Given the description of an element on the screen output the (x, y) to click on. 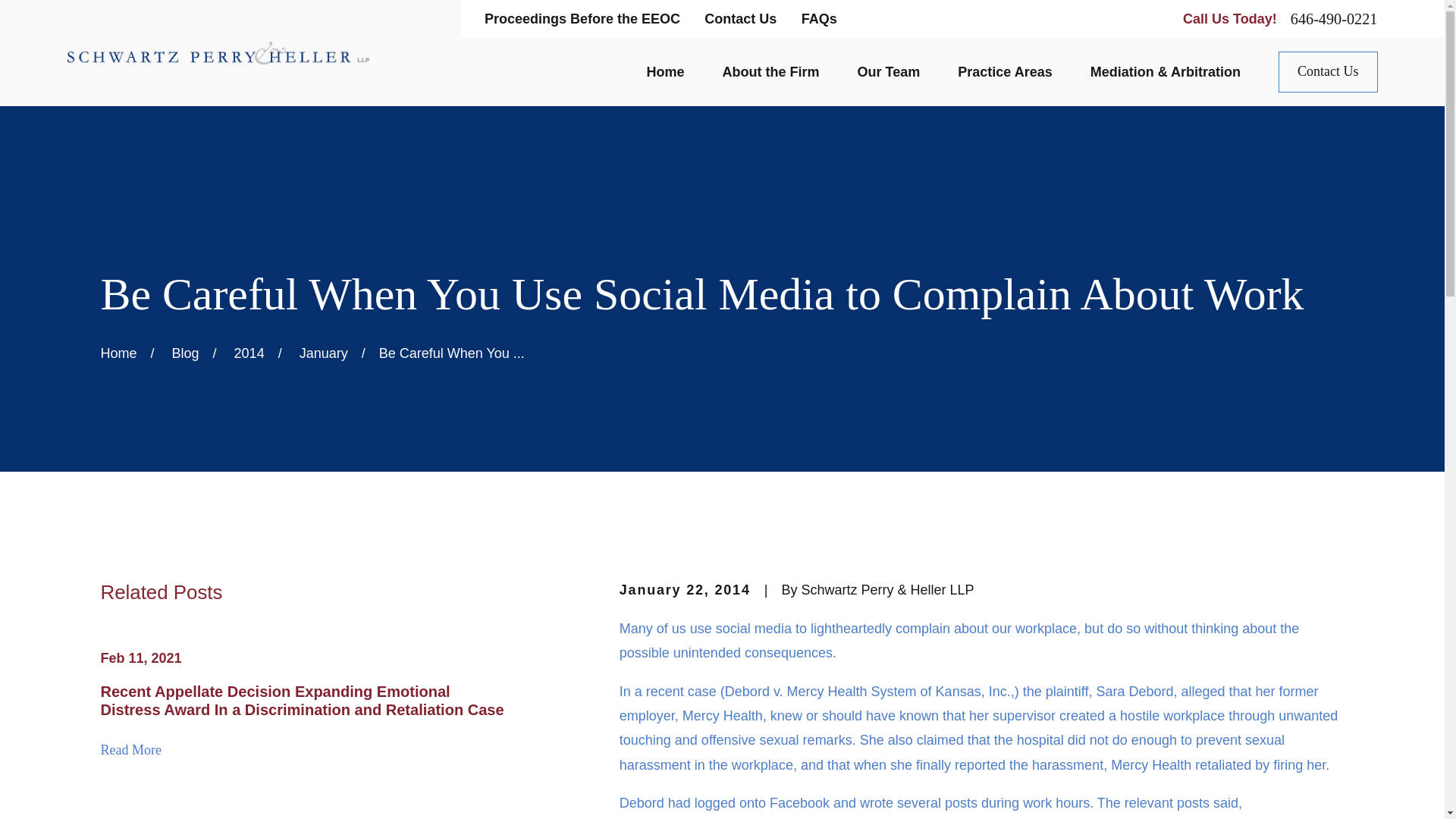
Contact Us (740, 18)
Our Team (888, 72)
Proceedings Before the EEOC (581, 18)
FAQs (819, 18)
646-490-0221 (1333, 18)
About the Firm (770, 72)
Practice Areas (1004, 72)
Home (217, 52)
Home (665, 72)
Go Home (118, 353)
